Given the description of an element on the screen output the (x, y) to click on. 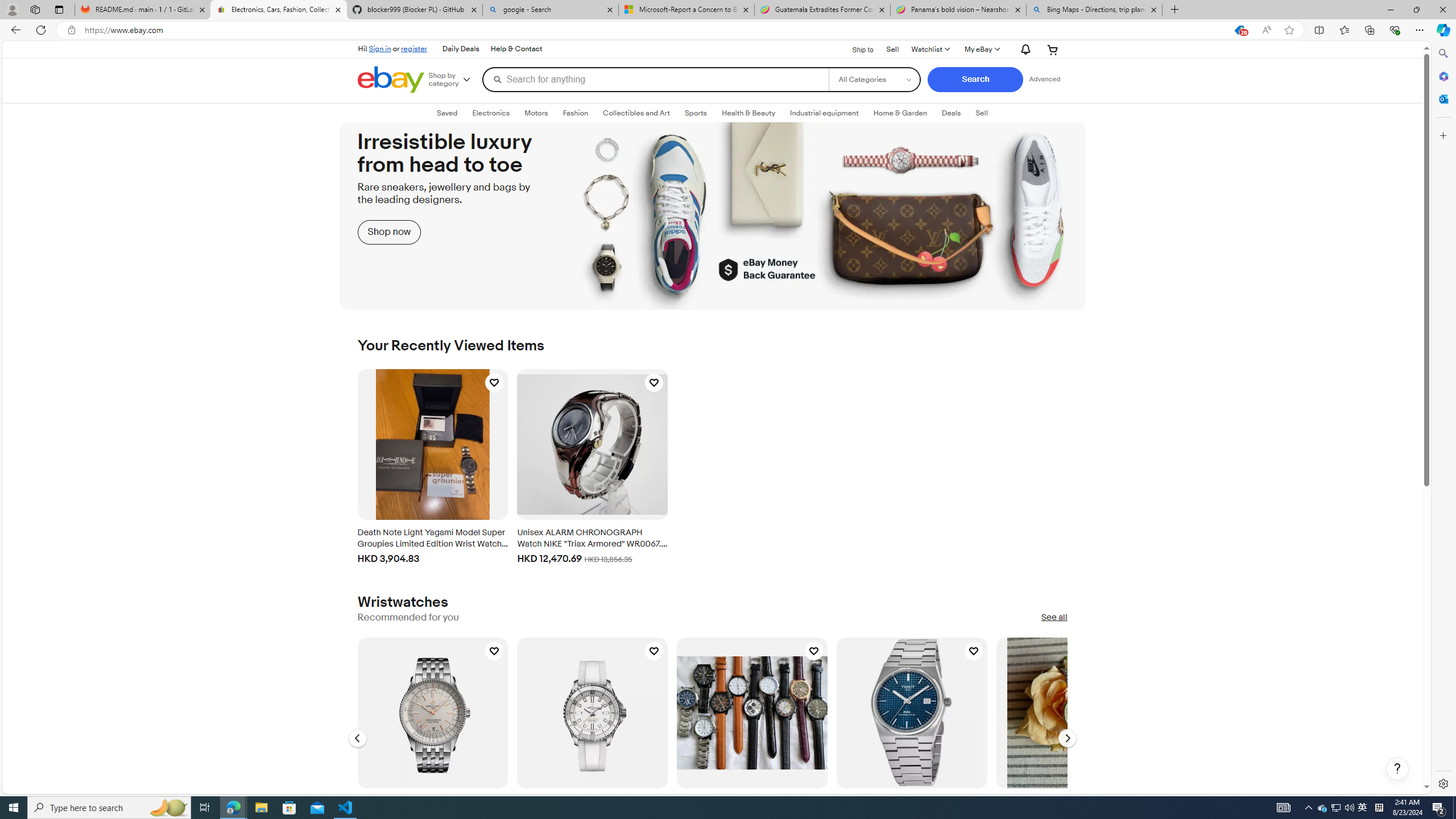
Industrial equipment (824, 112)
Saved (447, 112)
Shop by category (453, 79)
Saved (446, 112)
Go to the next slide, Wristwatches - Carousel (1066, 737)
Motors (536, 112)
